Given the description of an element on the screen output the (x, y) to click on. 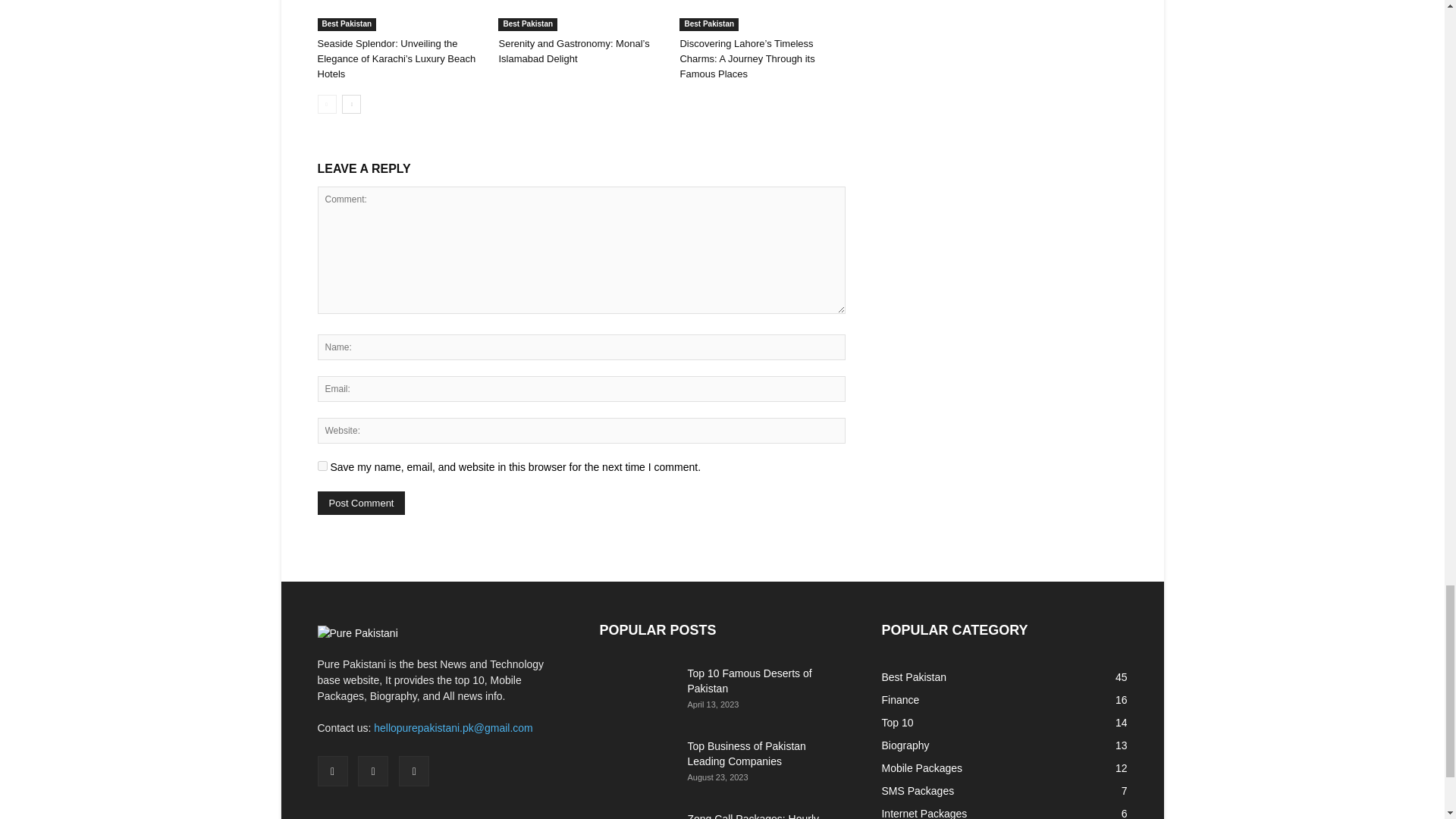
Post Comment (360, 503)
yes (321, 465)
